Given the description of an element on the screen output the (x, y) to click on. 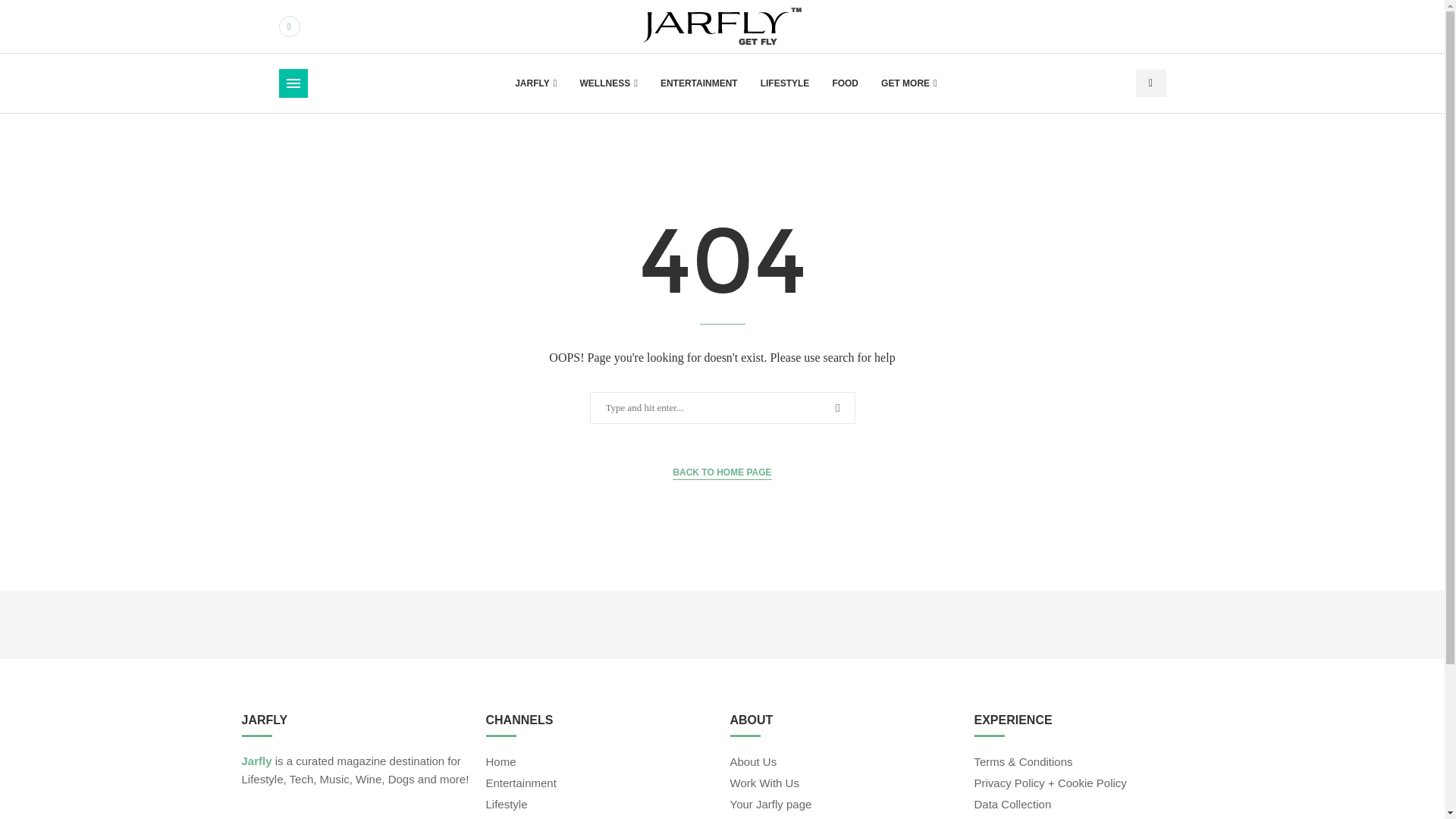
WELLNESS (608, 83)
GET MORE (908, 83)
ENTERTAINMENT (699, 83)
LIFESTYLE (784, 83)
JARFLY (535, 83)
